Given the description of an element on the screen output the (x, y) to click on. 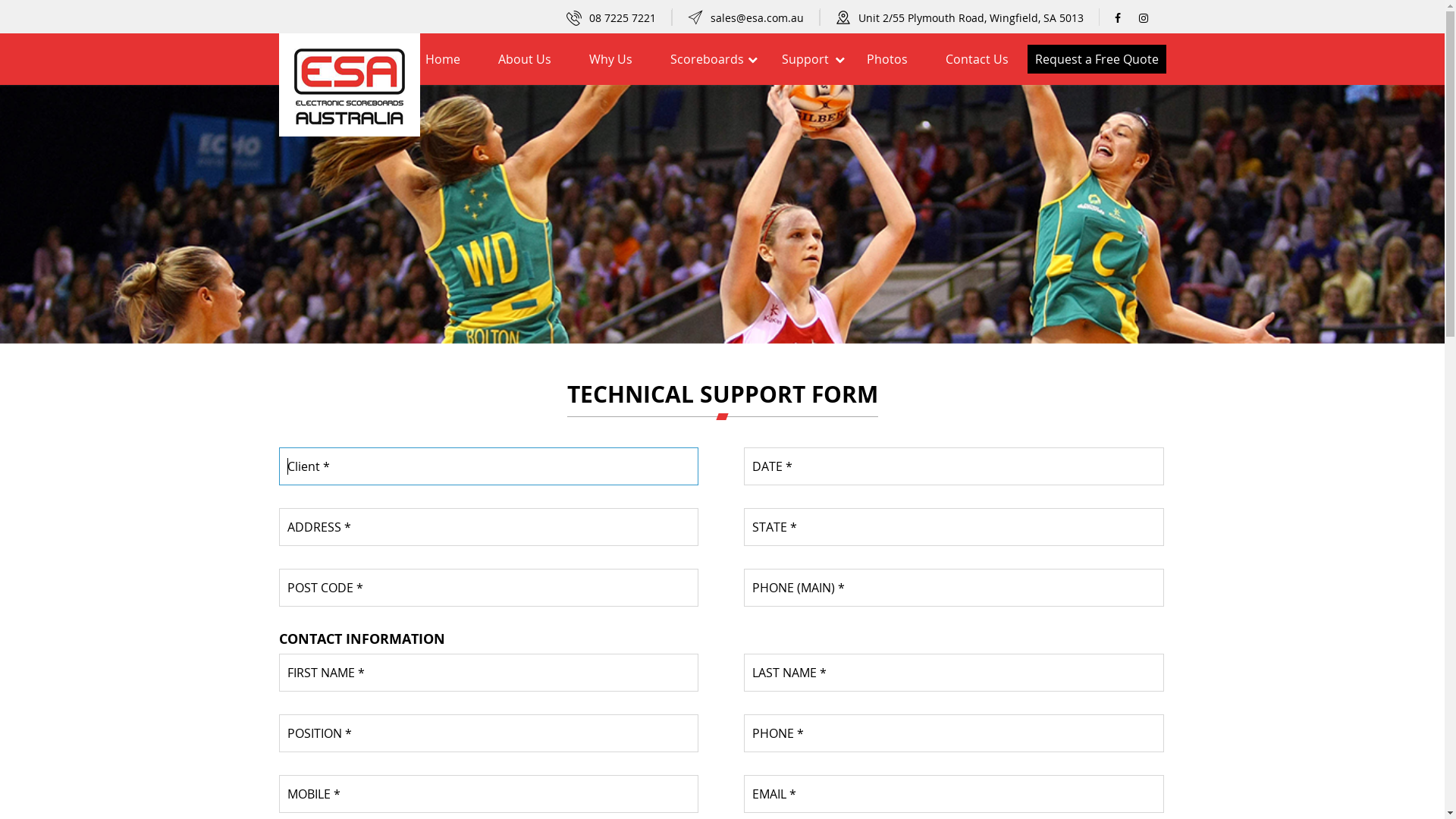
PHONE Element type: hover (953, 733)
Scoreboards Element type: text (706, 58)
EMAIL Element type: hover (953, 793)
DATE Element type: hover (953, 466)
ADDRESS Element type: hover (488, 527)
Home Element type: text (442, 58)
FIRST NAME Element type: hover (488, 672)
Why Us Element type: text (610, 58)
STATE Element type: hover (953, 527)
POSITION Element type: hover (488, 733)
sales@esa.com.au Element type: text (753, 17)
  Element type: text (1126, 17)
PHONE (MAIN) Element type: hover (953, 587)
Contact Us Element type: text (976, 58)
ORGANIZATION Element type: hover (488, 466)
08 7225 7221 Element type: text (618, 17)
About Us Element type: text (524, 58)
MOBILE Element type: hover (488, 793)
  Element type: text (1152, 17)
Photos Element type: text (886, 58)
Request a Free Quote Element type: text (1095, 58)
Support Element type: text (804, 58)
Unit 2/55 Plymouth Road, Wingfield, SA 5013 Element type: text (966, 17)
POST CODE Element type: hover (488, 587)
LAST NAME Element type: hover (953, 672)
